Given the description of an element on the screen output the (x, y) to click on. 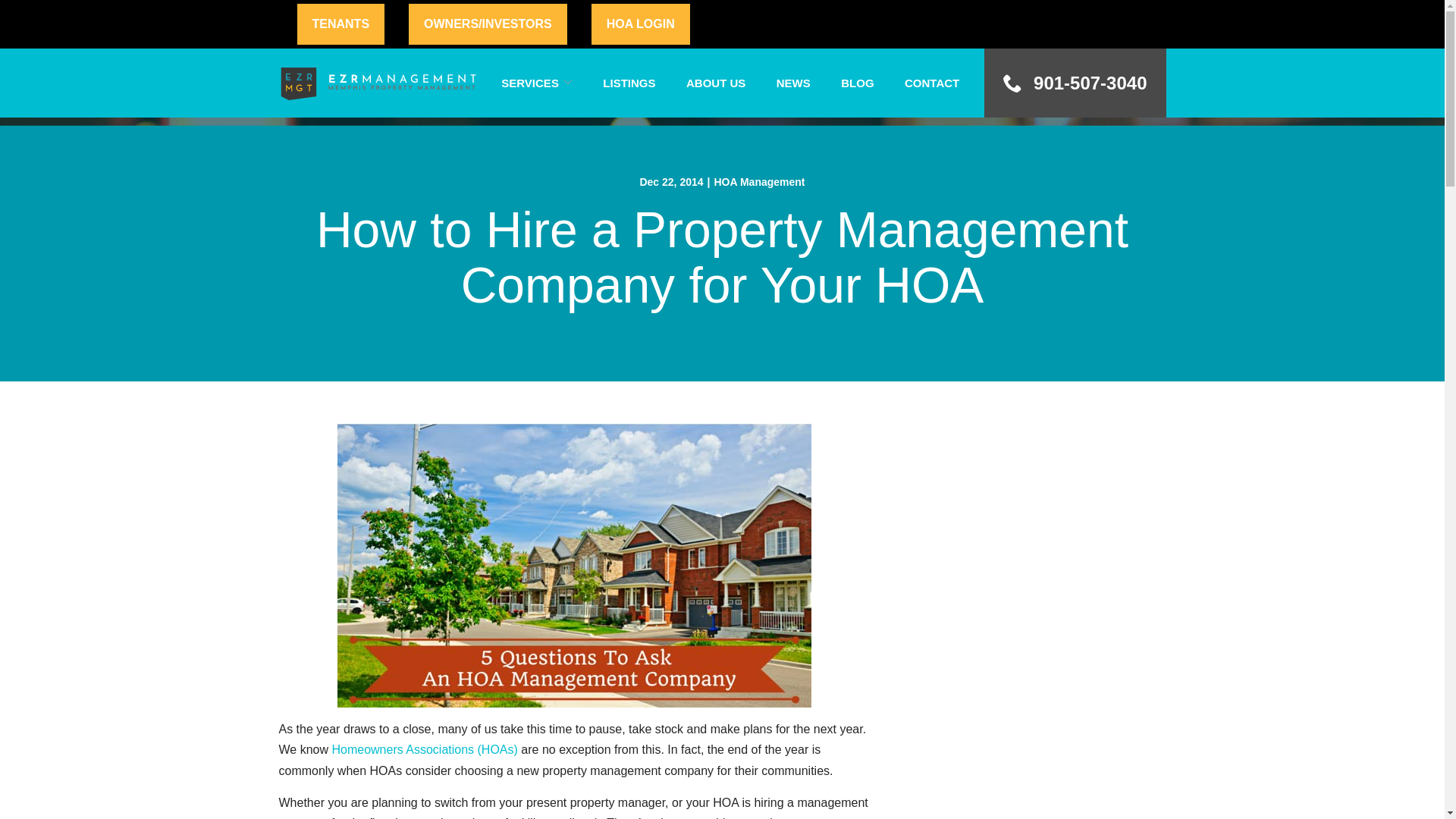
TENANTS (341, 24)
CONTACT (931, 82)
901-507-3040 (1075, 82)
NEWS (793, 82)
HOA Management (759, 182)
SERVICES (536, 82)
BLOG (857, 82)
LISTINGS (628, 82)
ABOUT US (715, 82)
HOA LOGIN (640, 24)
